Given the description of an element on the screen output the (x, y) to click on. 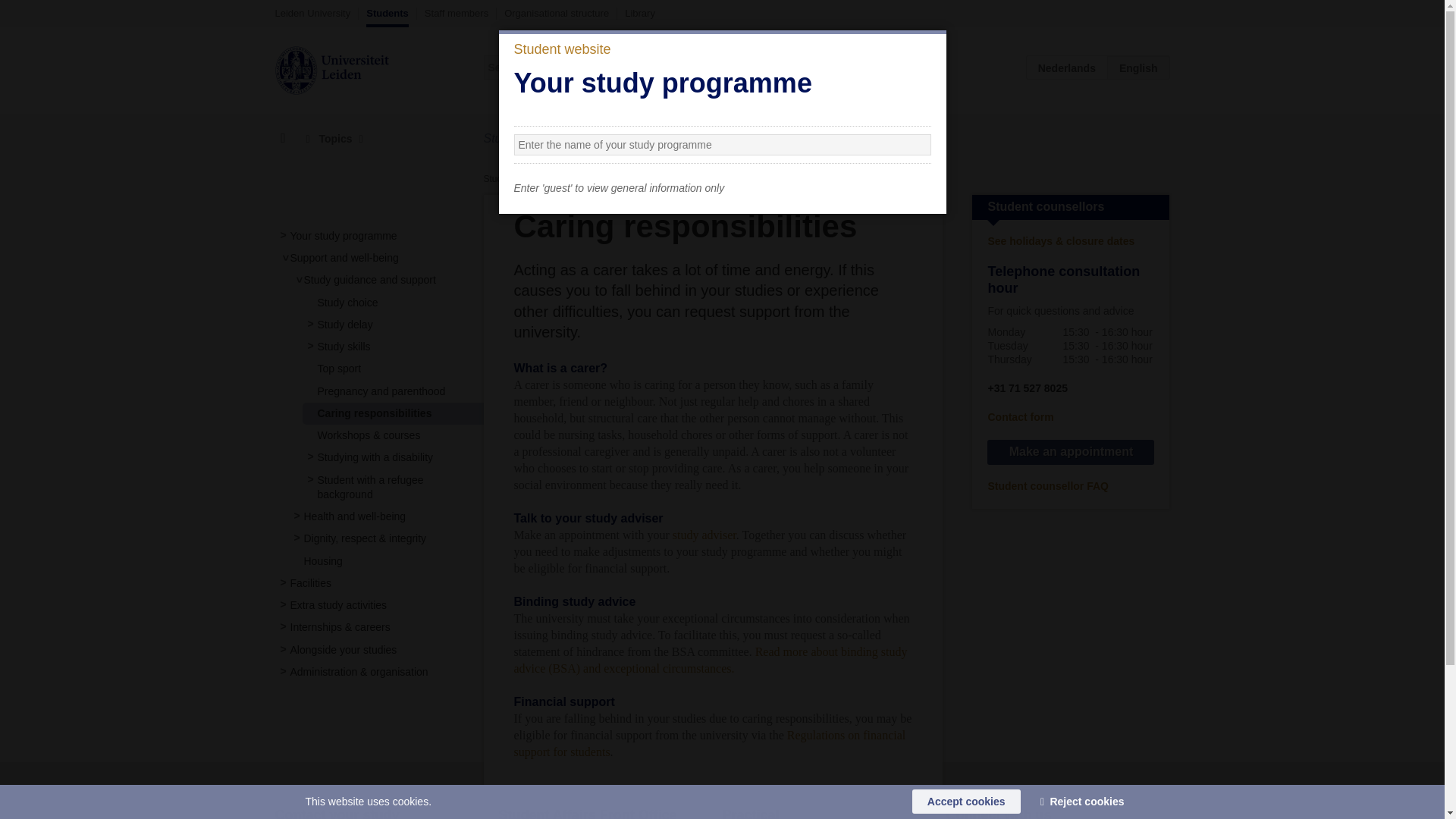
Organisational structure (555, 13)
All (827, 67)
Staff members (456, 13)
Search and select a study programme (686, 139)
Library (639, 13)
Students (387, 17)
Search (919, 67)
Leiden University (312, 13)
Your study programme (342, 235)
Topics (333, 139)
NL (1067, 67)
